Given the description of an element on the screen output the (x, y) to click on. 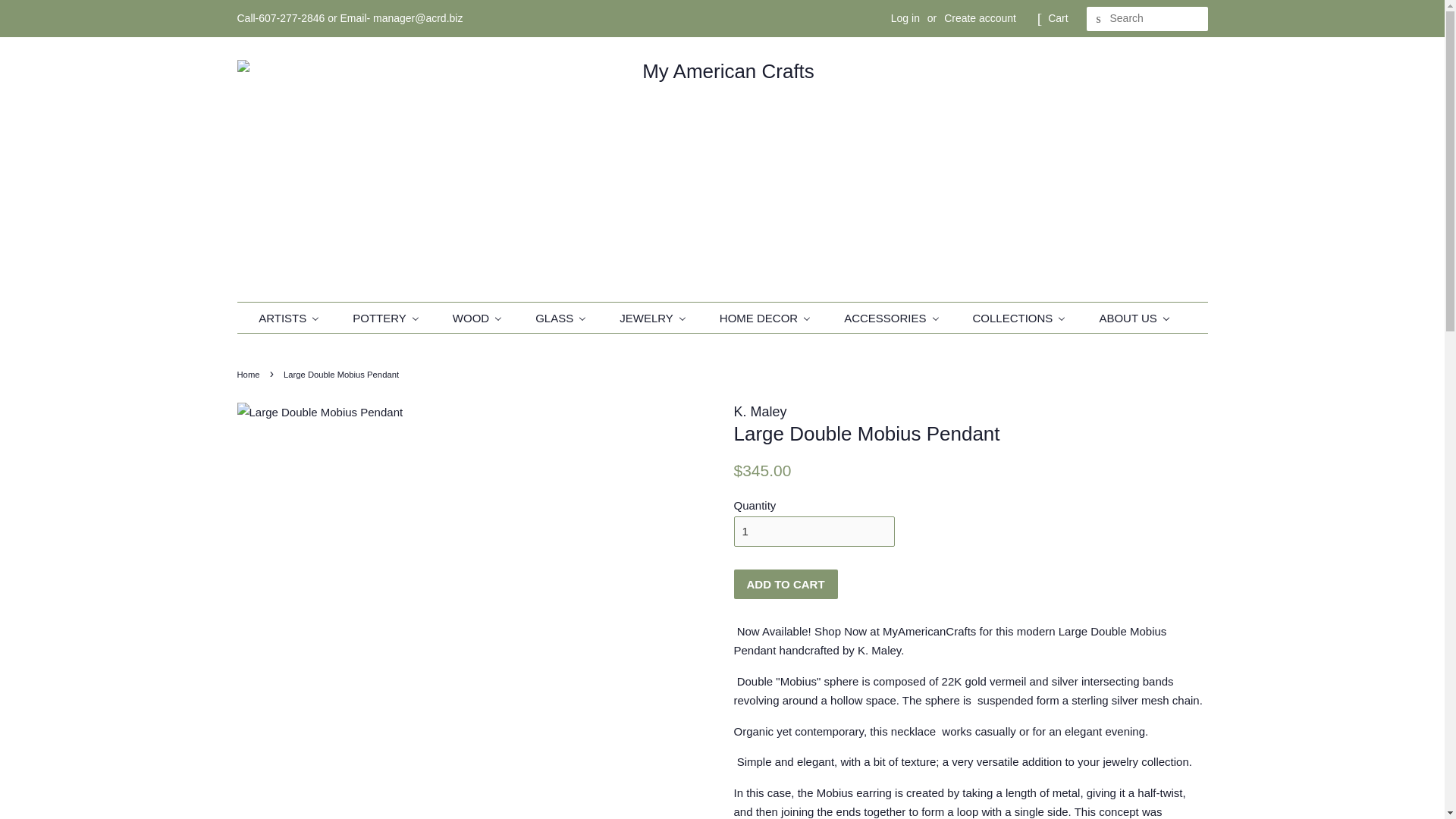
Create account (979, 18)
Back to the frontpage (249, 374)
Cart (1057, 18)
SEARCH (1097, 18)
1 (814, 531)
Log in (905, 18)
